Given the description of an element on the screen output the (x, y) to click on. 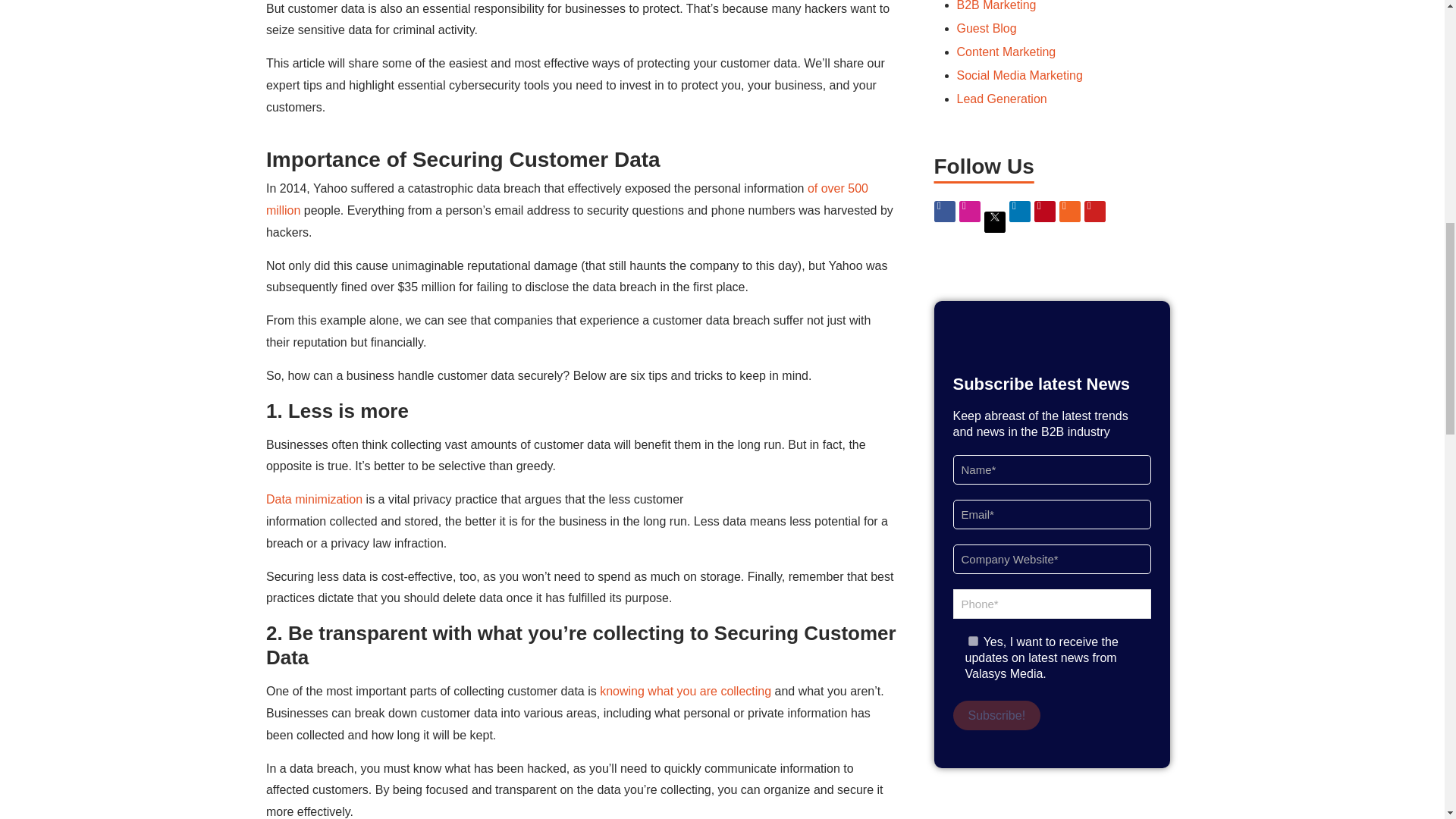
Data minimization (314, 499)
knowing what you are collecting (685, 690)
Subscribe! (996, 715)
1 (972, 641)
of over 500 million (566, 199)
